Given the description of an element on the screen output the (x, y) to click on. 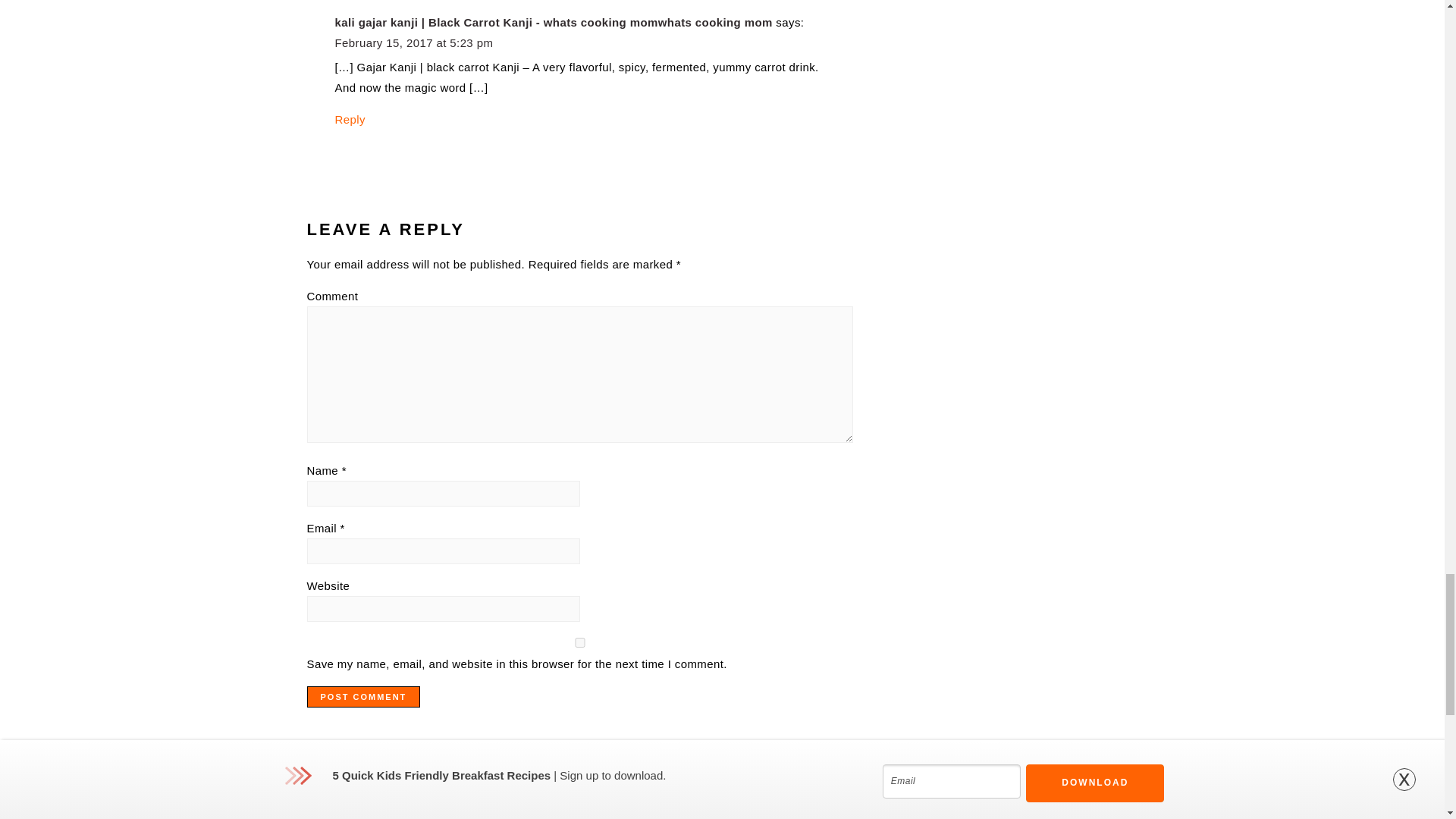
yes (578, 642)
Post Comment (362, 696)
